Given the description of an element on the screen output the (x, y) to click on. 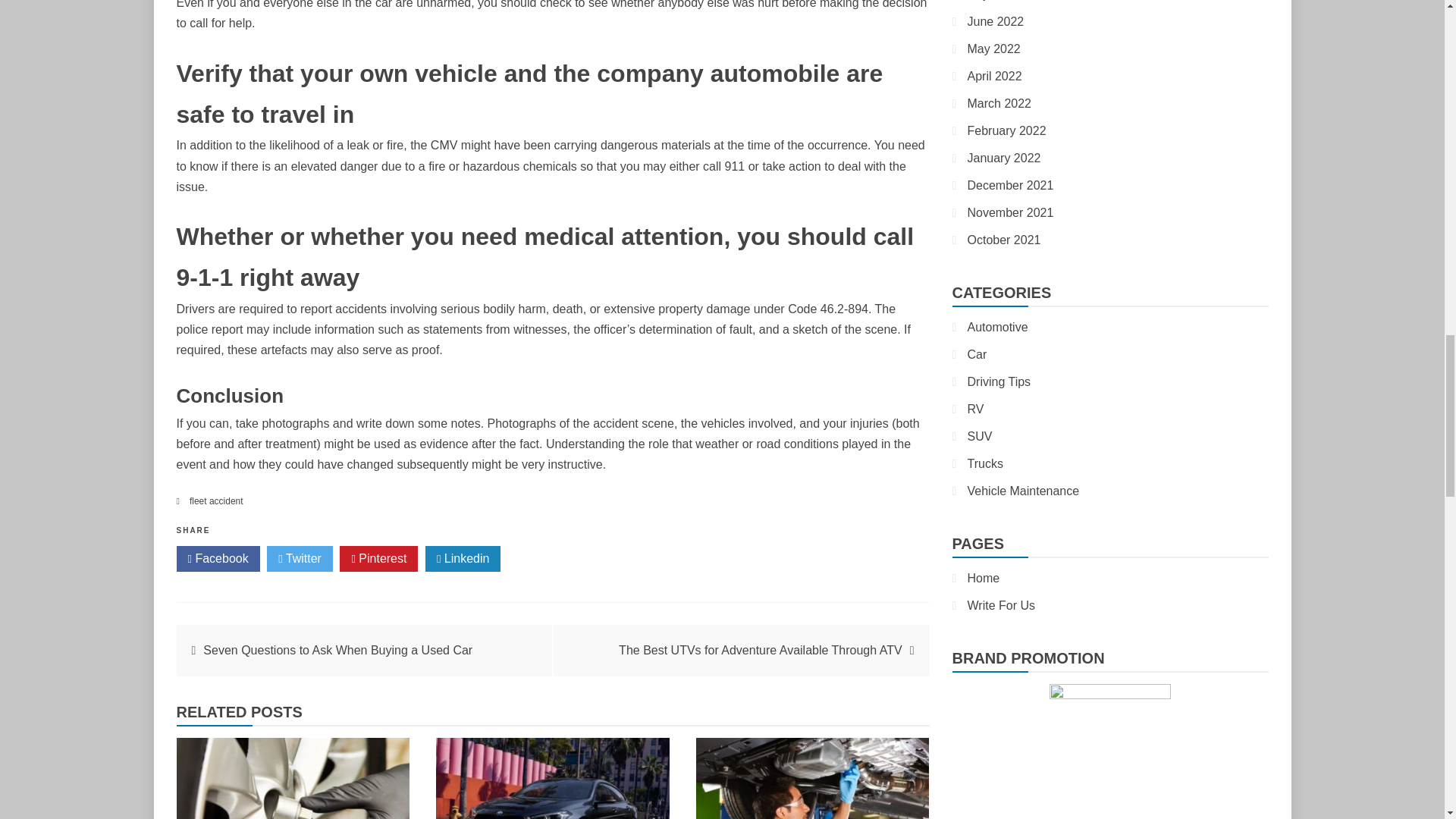
Twitter (299, 558)
The Best UTVs for Adventure Available Through ATV (760, 649)
Pinterest (378, 558)
fleet accident (216, 501)
Facebook (217, 558)
Seven Questions to Ask When Buying a Used Car (337, 649)
Linkedin (462, 558)
